Given the description of an element on the screen output the (x, y) to click on. 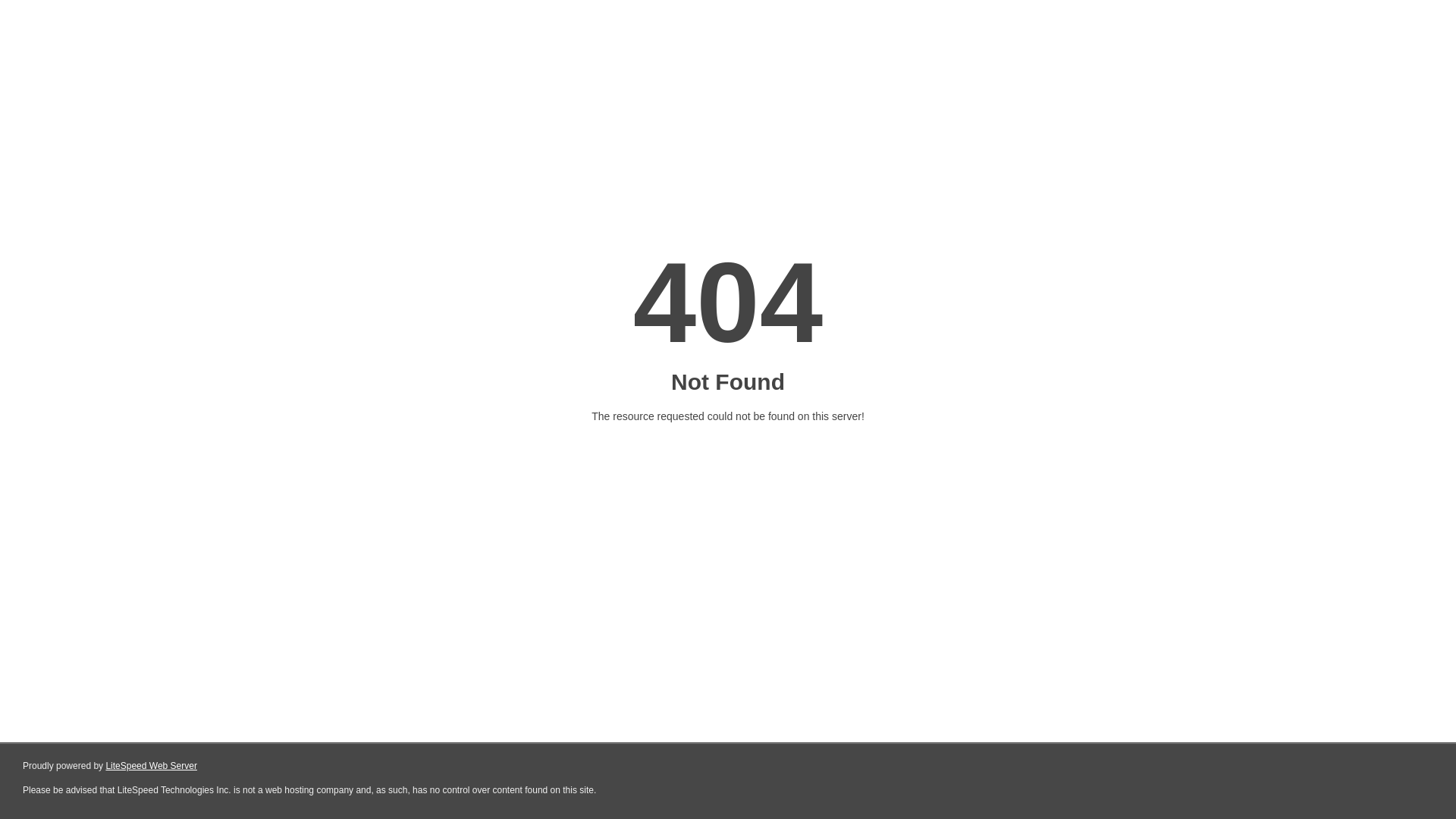
LiteSpeed Web Server Element type: text (151, 765)
